Given the description of an element on the screen output the (x, y) to click on. 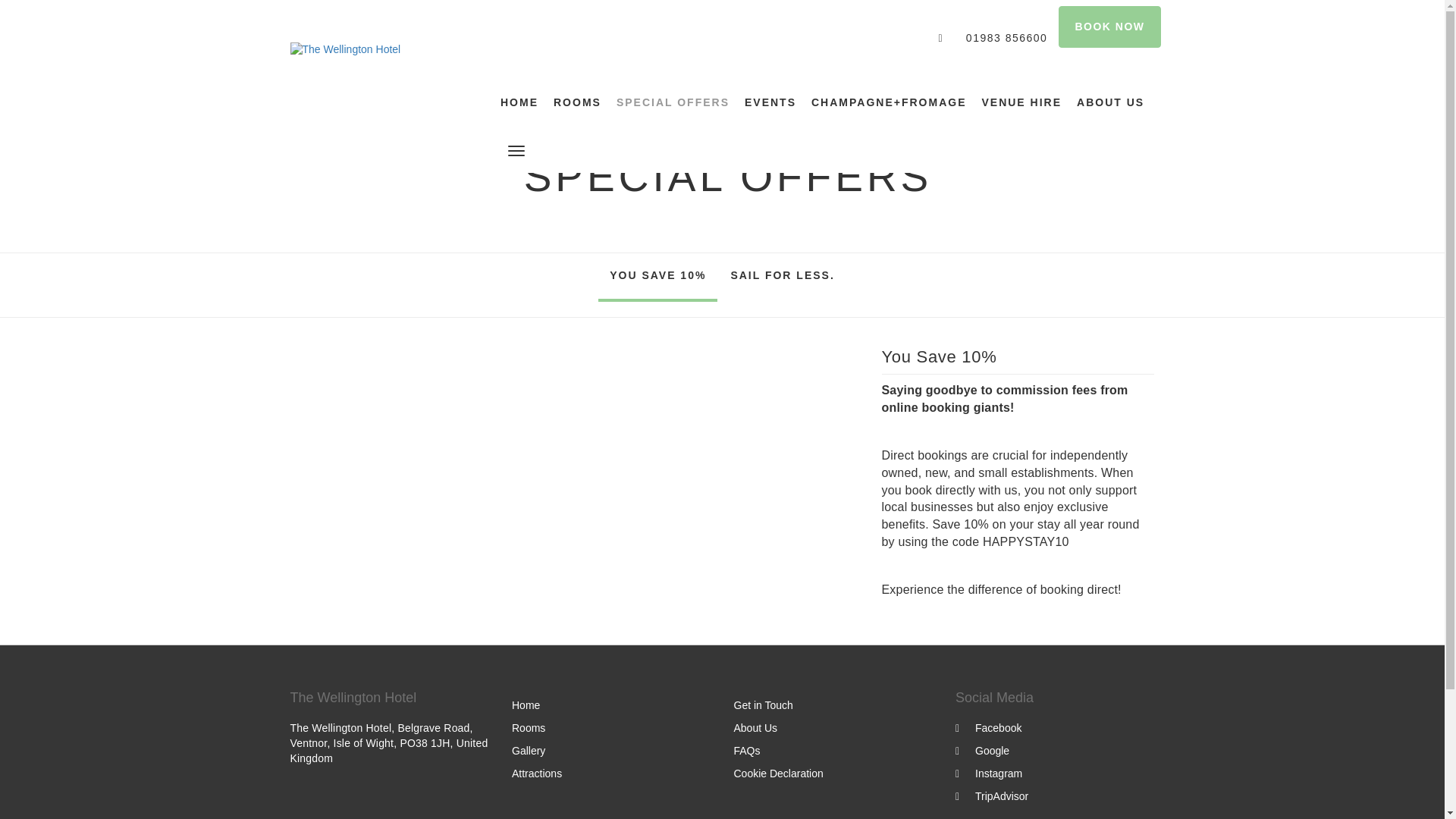
ROOMS (577, 101)
BOOK NOW (1109, 26)
01983 856600 (984, 39)
VENUE HIRE (1021, 101)
About Us (755, 727)
FAQs (746, 750)
Gallery (528, 750)
Home (526, 705)
Attractions (537, 773)
Get in Touch (763, 705)
Rooms (528, 727)
HOME (523, 101)
ABOUT US (1109, 101)
SAIL FOR LESS. (782, 277)
